Given the description of an element on the screen output the (x, y) to click on. 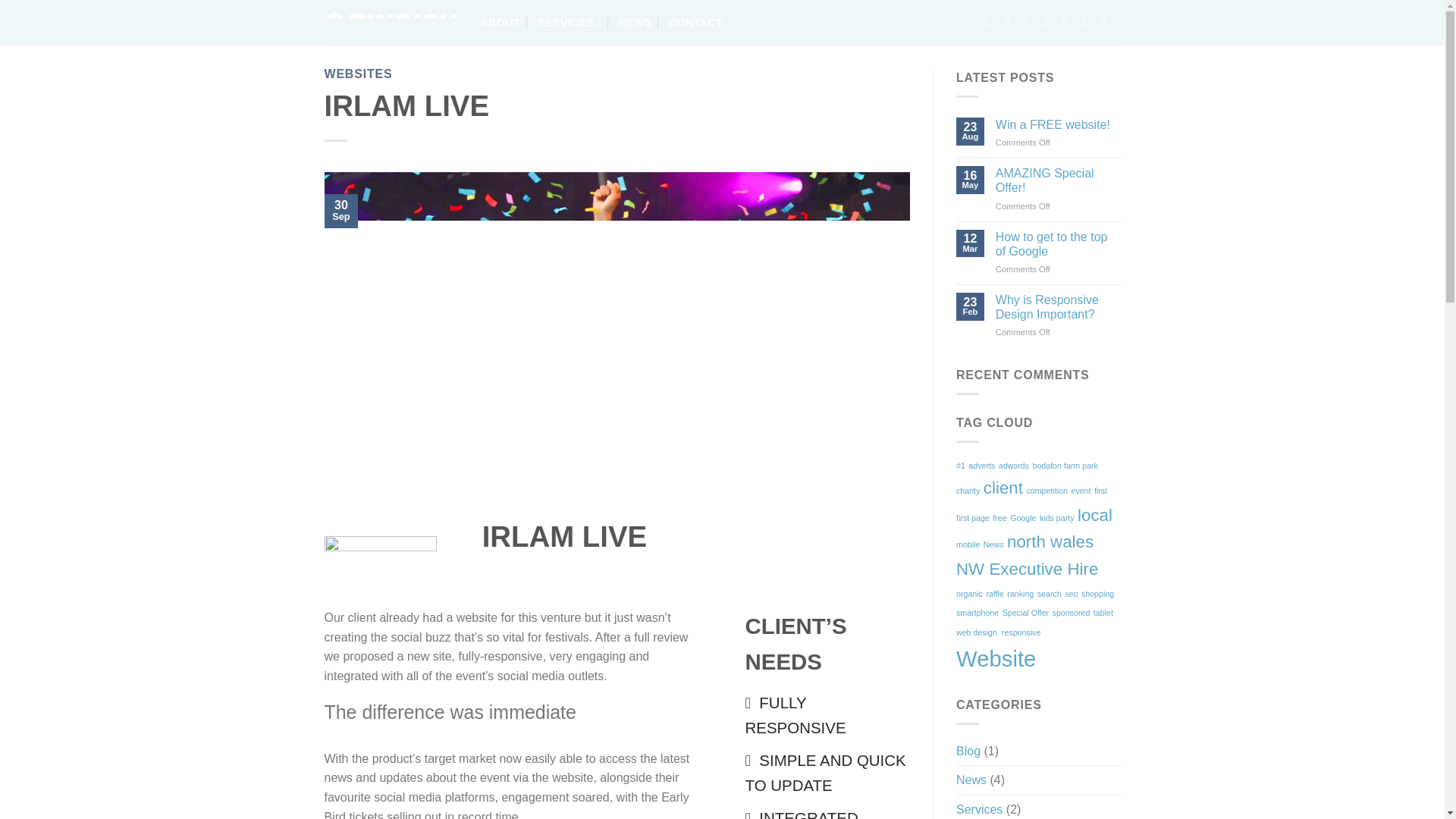
WEBSITES (358, 73)
Follow us on Instagram (1071, 21)
Why is Responsive Design Important? (1058, 306)
Find us on LinkedIn (1110, 21)
NEWS (633, 22)
Tindish - Working for your business (391, 22)
Get in touch via Whatsapp (1013, 21)
ABOUT (500, 22)
Send us an email (1033, 21)
AMAZING Special Offer! (1058, 180)
